Given the description of an element on the screen output the (x, y) to click on. 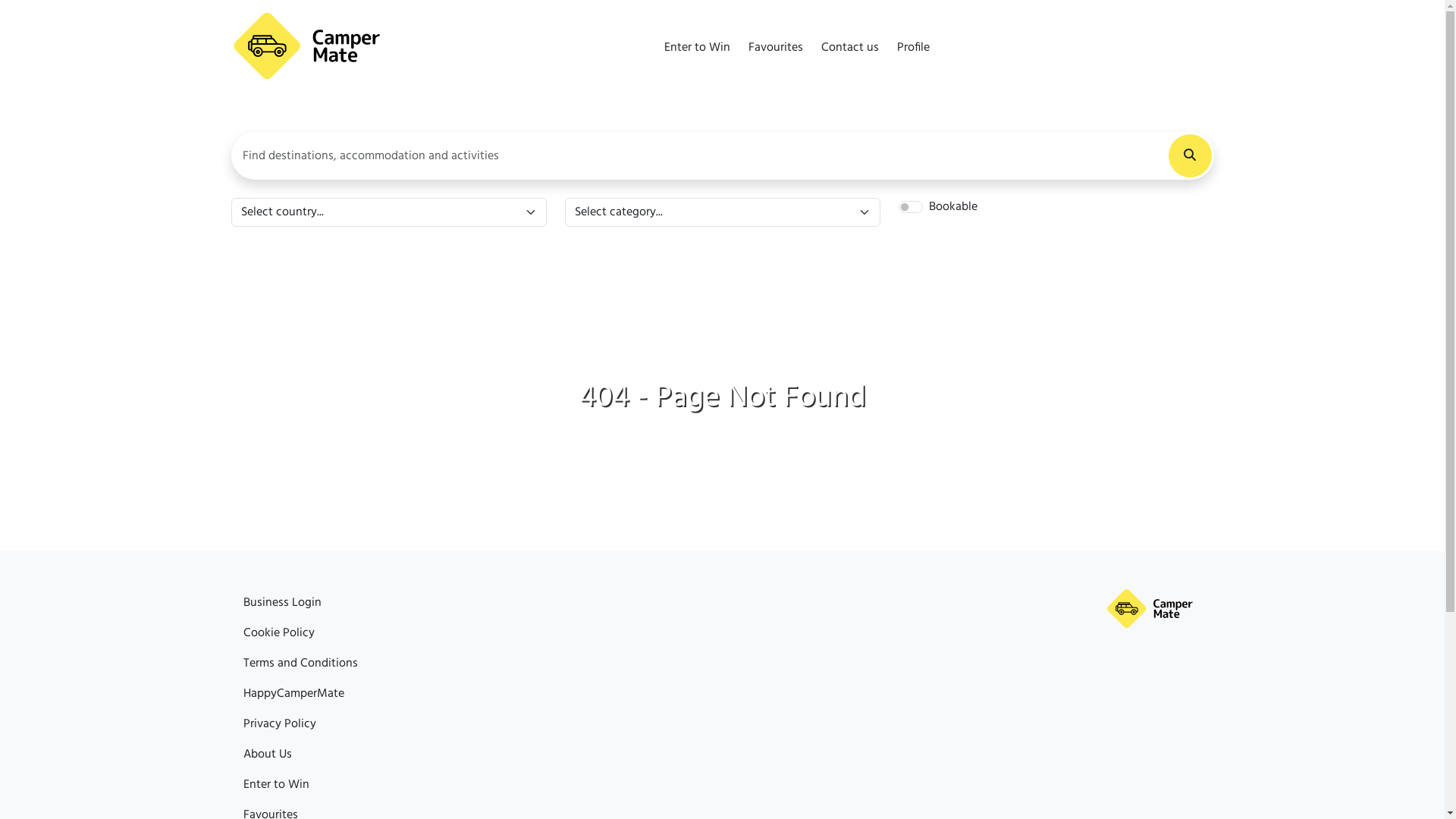
Business Login Element type: text (281, 602)
Favourites Element type: text (774, 54)
Contact us Element type: text (849, 54)
Contact us Element type: text (271, 693)
Enter to Win Element type: text (275, 633)
Profile Element type: text (912, 54)
Enter to Win Element type: text (697, 54)
Favourites Element type: text (269, 663)
